Given the description of an element on the screen output the (x, y) to click on. 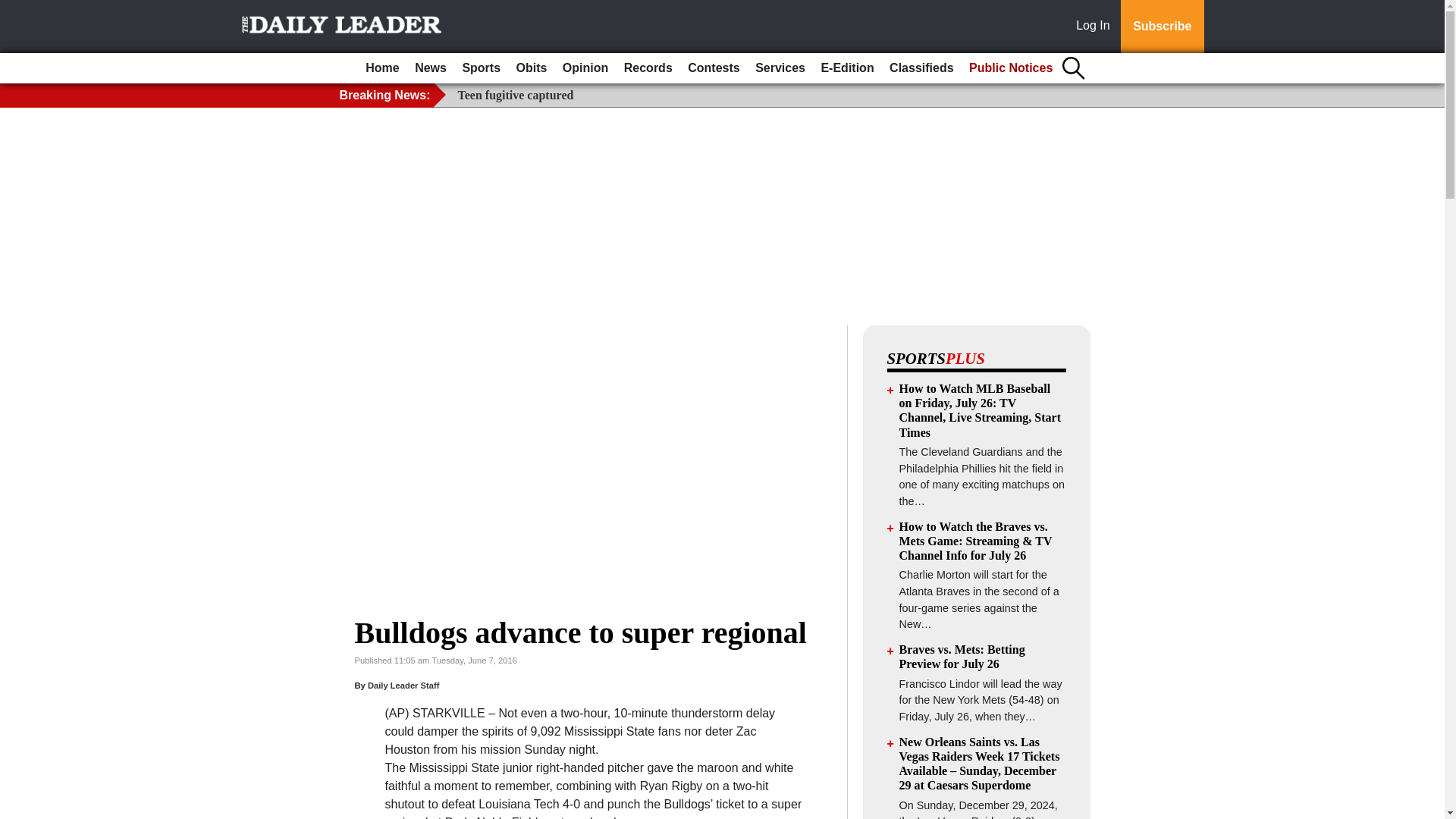
Contests (713, 68)
Records (647, 68)
Sports (480, 68)
Braves vs. Mets: Betting Preview for July 26 (962, 656)
Public Notices (1010, 68)
Obits (532, 68)
Teen fugitive captured (515, 94)
Home (381, 68)
Opinion (585, 68)
Subscribe (1162, 26)
News (430, 68)
Teen fugitive captured (515, 94)
Log In (1095, 26)
Daily Leader Staff (403, 685)
